Given the description of an element on the screen output the (x, y) to click on. 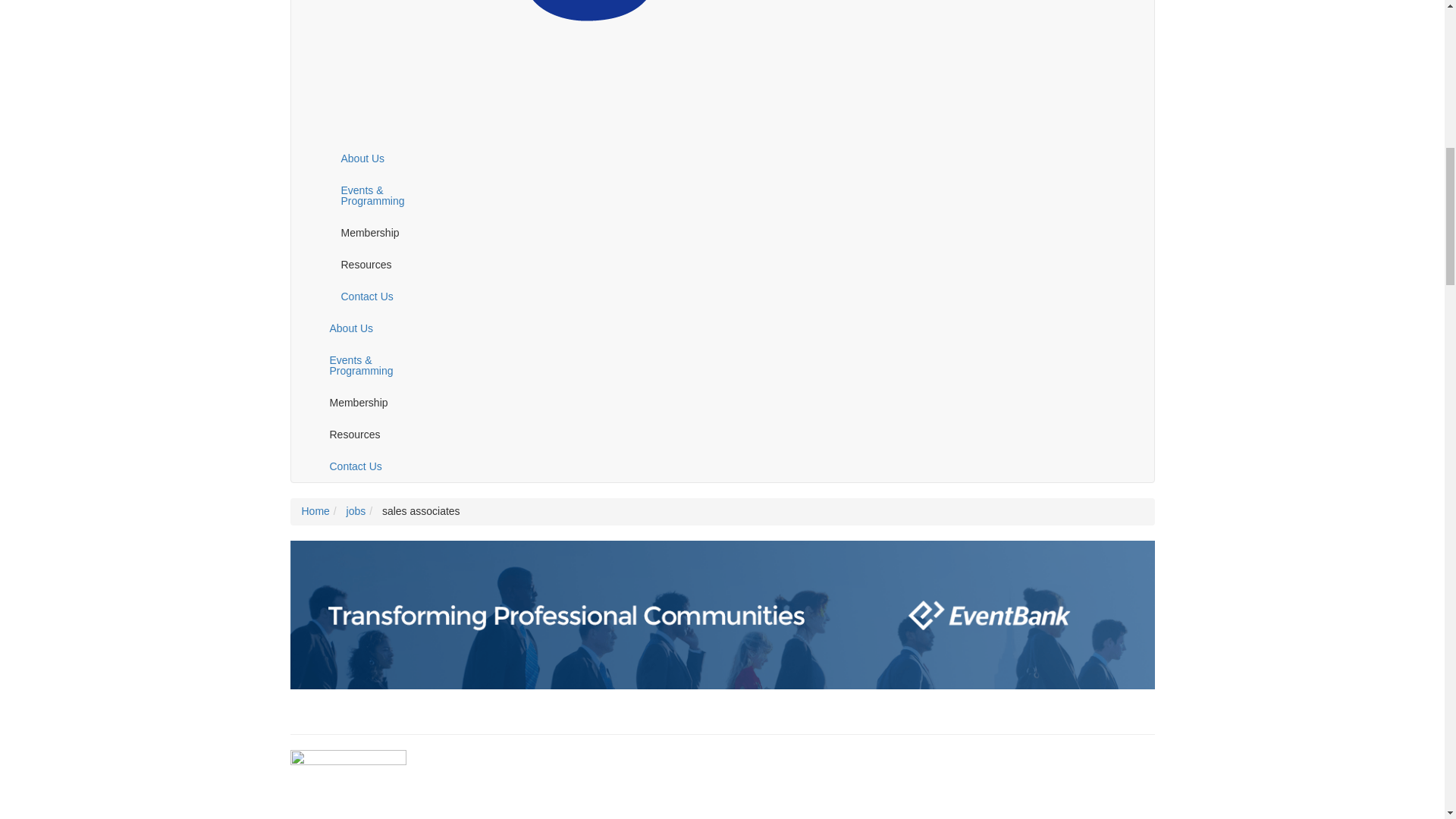
About Us (387, 158)
Home (547, 68)
Contact Us (387, 296)
